Given the description of an element on the screen output the (x, y) to click on. 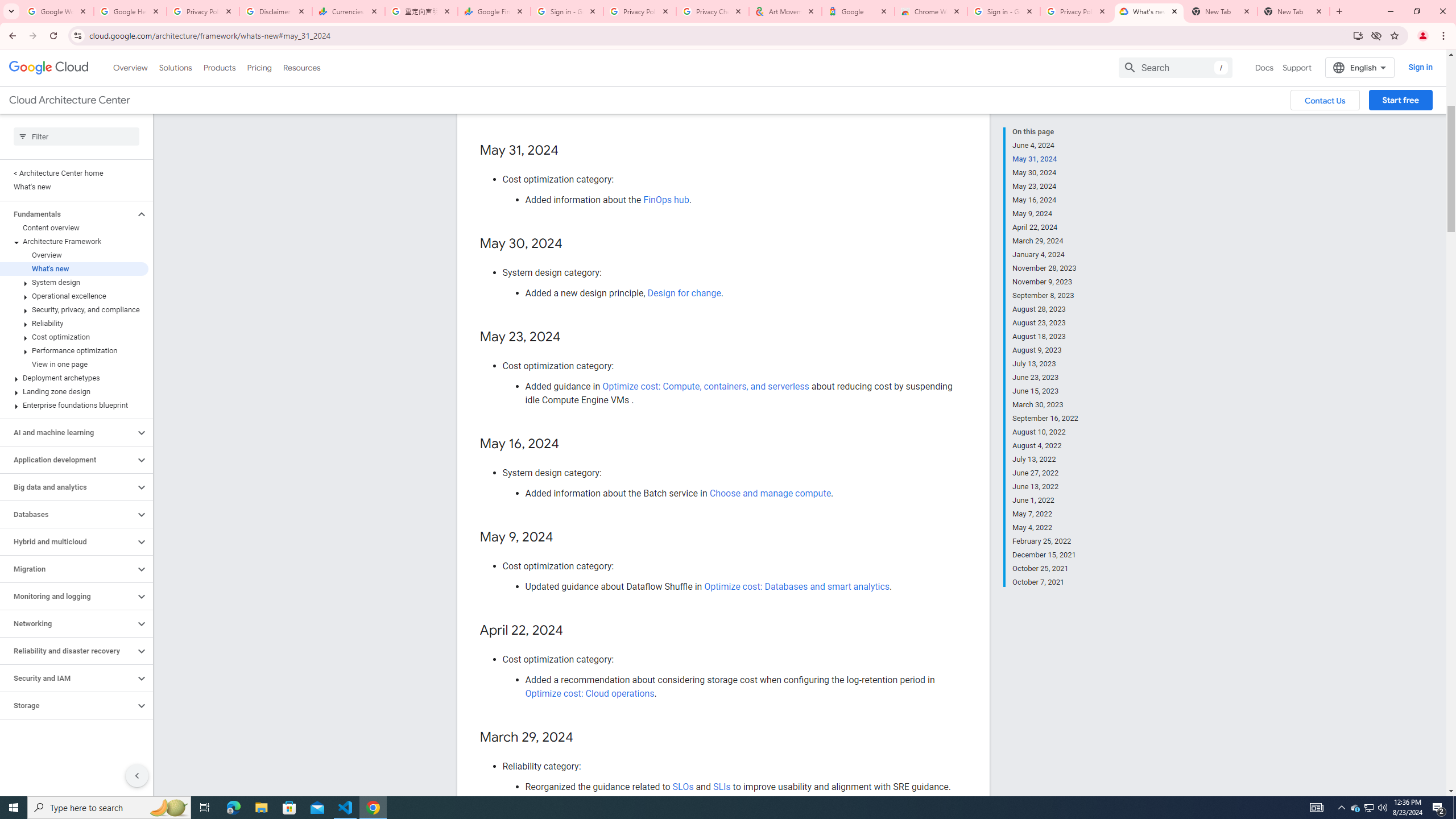
May 16, 2024 (1044, 200)
Products (218, 67)
Support (1296, 67)
SLIs (720, 786)
September 16, 2022 (1044, 418)
< Architecture Center home (74, 173)
Migration (67, 568)
Copy link to this section: April 22, 2024 (574, 631)
September 8, 2023 (1044, 295)
Docs, selected (1264, 67)
August 28, 2023 (1044, 309)
